Given the description of an element on the screen output the (x, y) to click on. 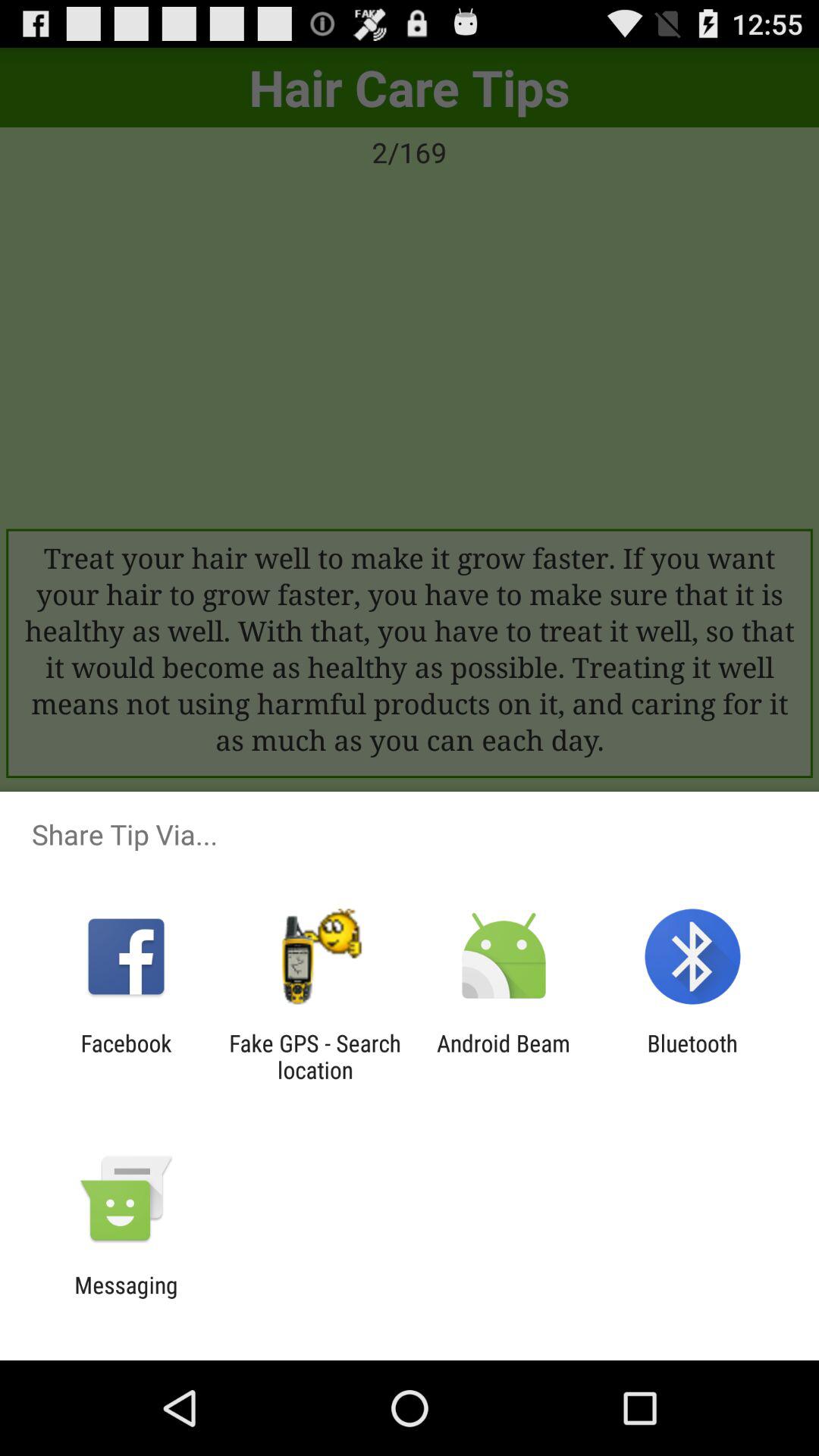
jump until the bluetooth item (692, 1056)
